Given the description of an element on the screen output the (x, y) to click on. 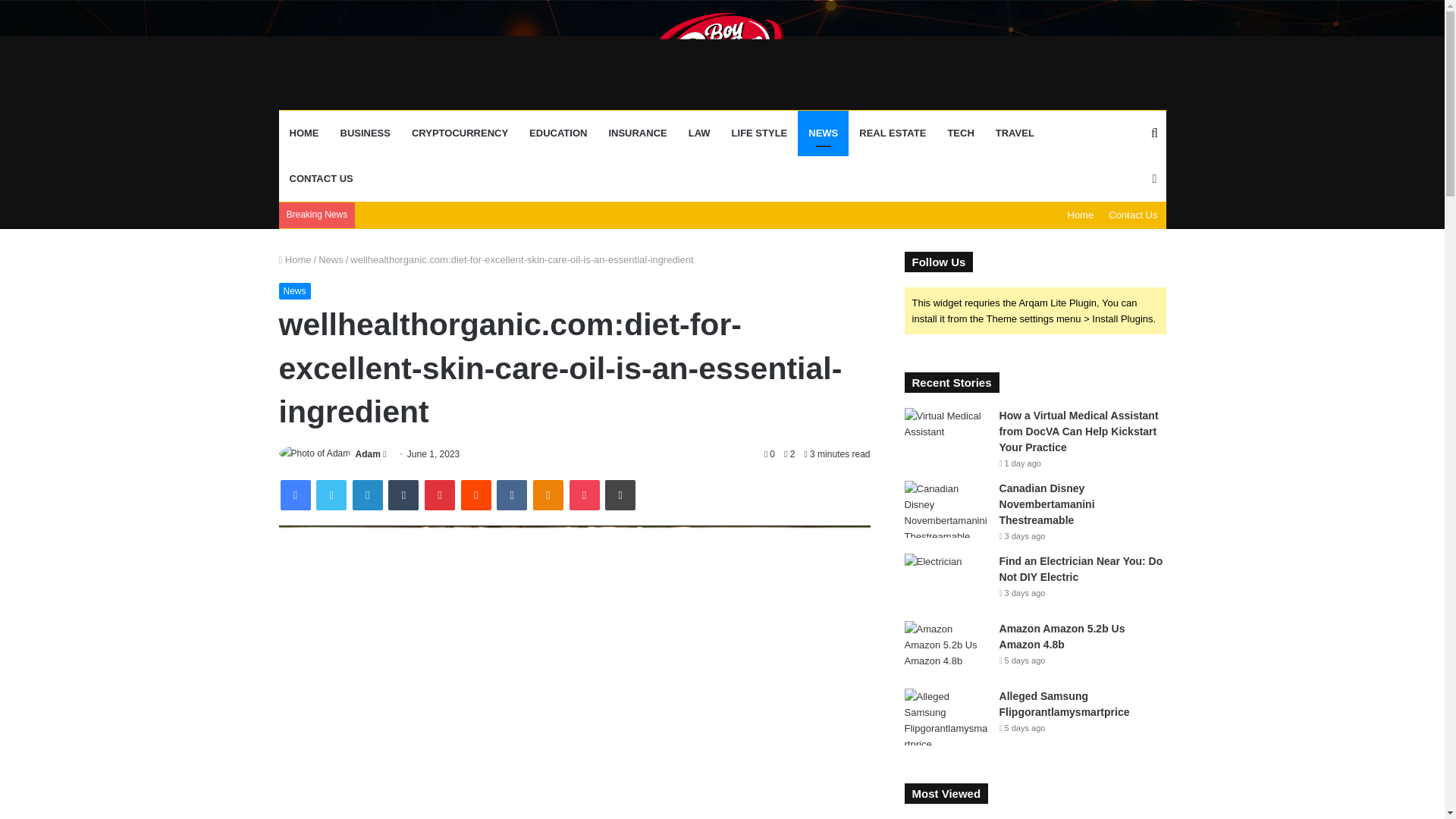
Tumblr (403, 494)
Pinterest (439, 494)
HOME (304, 133)
BUSINESS (364, 133)
Twitter (330, 494)
VKontakte (511, 494)
LIFE STYLE (758, 133)
REAL ESTATE (892, 133)
Sidebar (1154, 178)
Reddit (476, 494)
CONTACT US (321, 178)
Pocket (583, 494)
LinkedIn (367, 494)
